Given the description of an element on the screen output the (x, y) to click on. 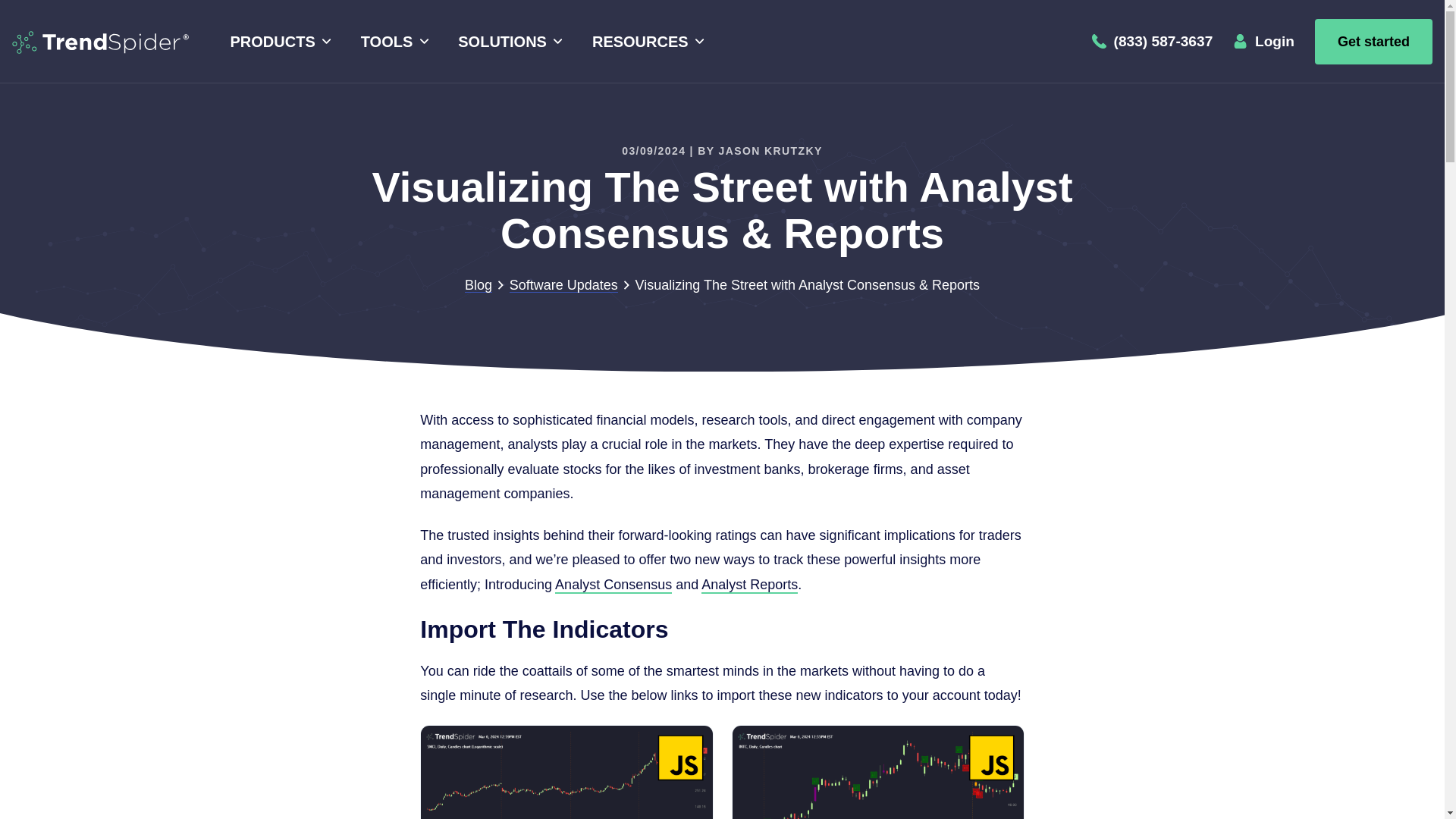
Get started (1373, 41)
RESOURCES (645, 41)
Go to the Software Updates Category archives. (563, 284)
Go to TrendSpider Blog. (478, 284)
PRODUCTS (277, 41)
TrendSpider (100, 41)
SOLUTIONS (508, 41)
TOOLS (392, 41)
